Given the description of an element on the screen output the (x, y) to click on. 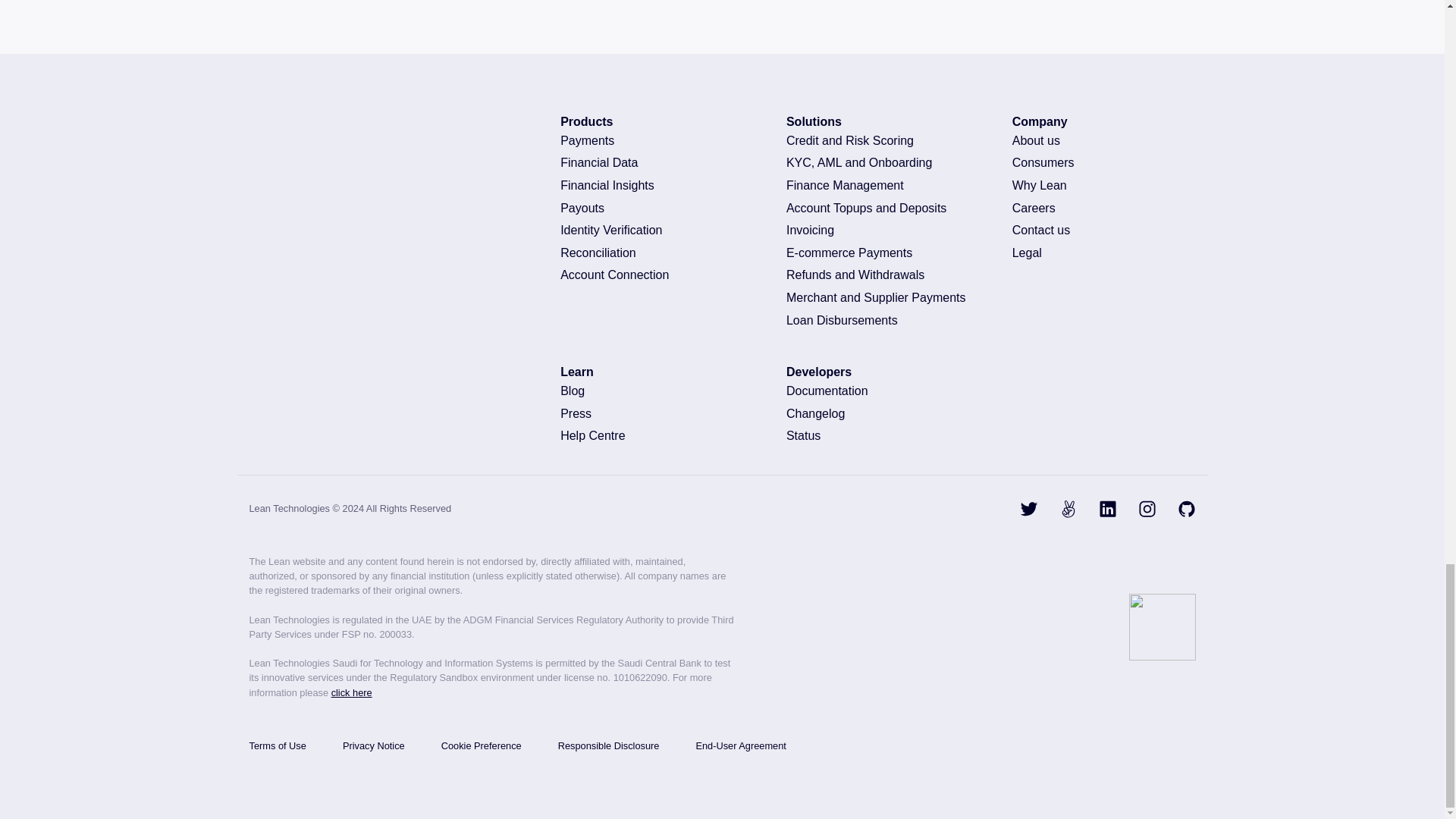
Financial Data (657, 162)
Payments (657, 140)
Payouts (657, 208)
Financial Insights (657, 185)
